Given the description of an element on the screen output the (x, y) to click on. 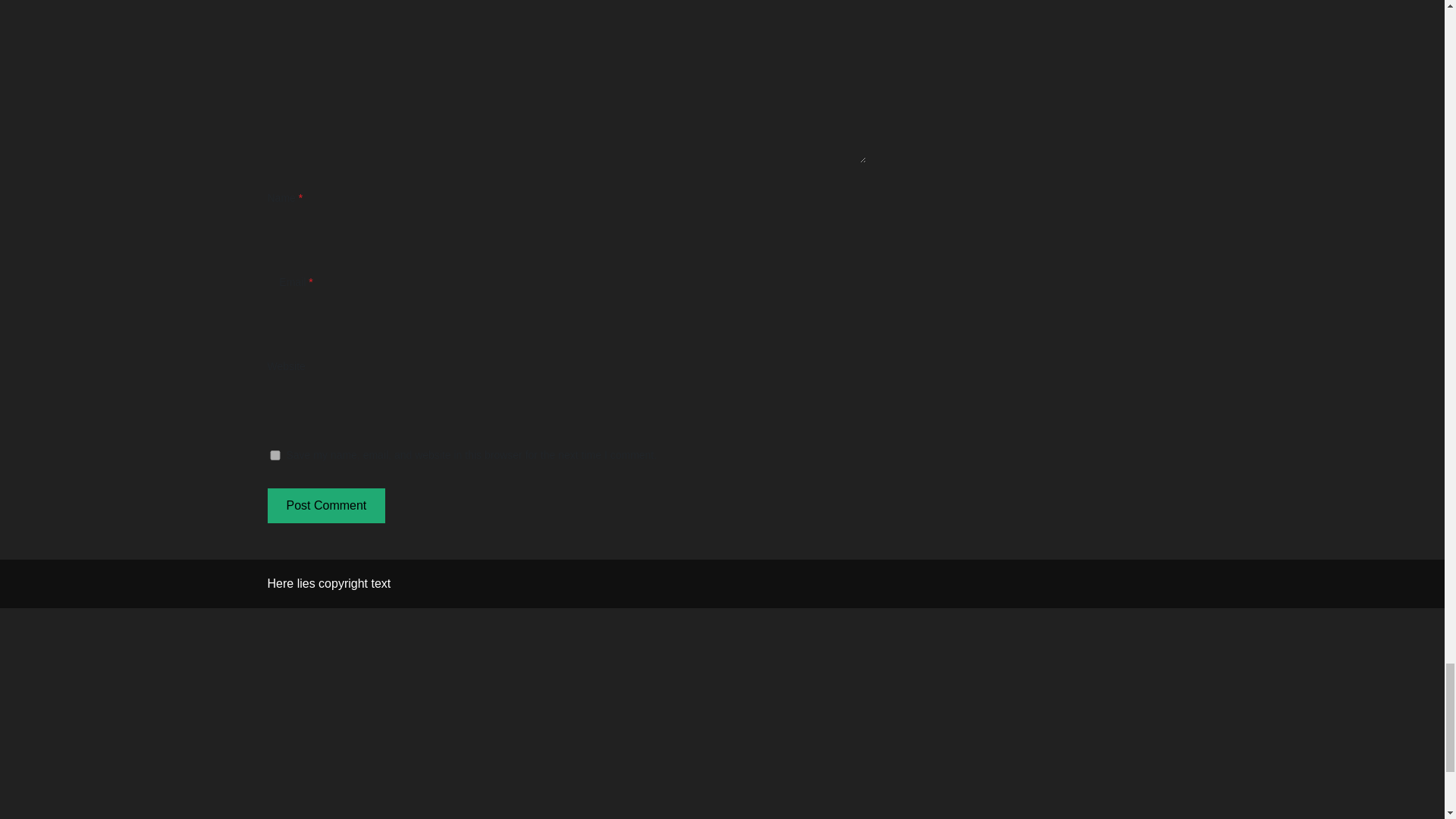
Post Comment (325, 505)
Post Comment (325, 505)
yes (274, 455)
